Given the description of an element on the screen output the (x, y) to click on. 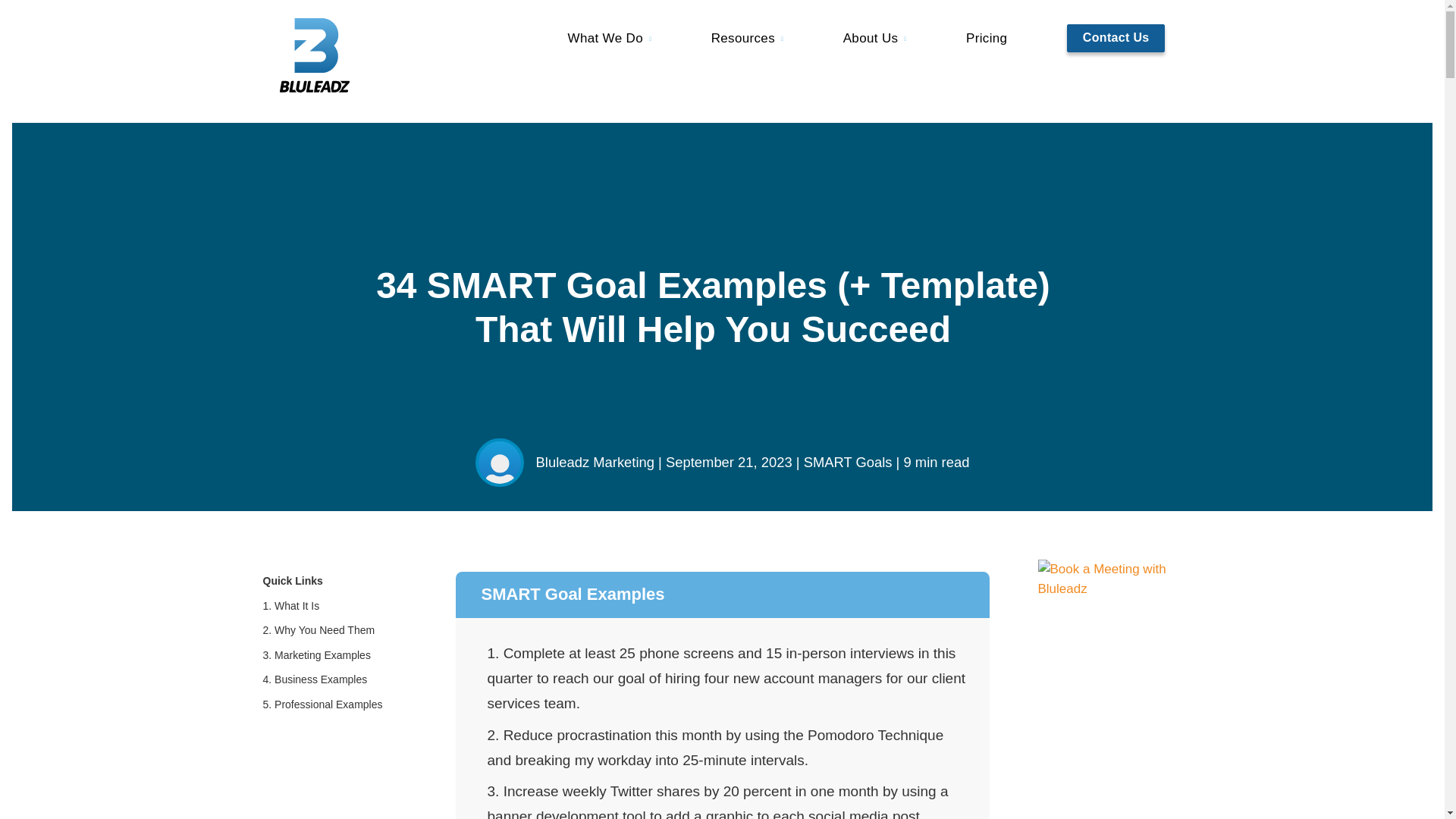
Contact Us (1116, 38)
Resources (747, 38)
Pricing (986, 38)
About Us (875, 38)
